Given the description of an element on the screen output the (x, y) to click on. 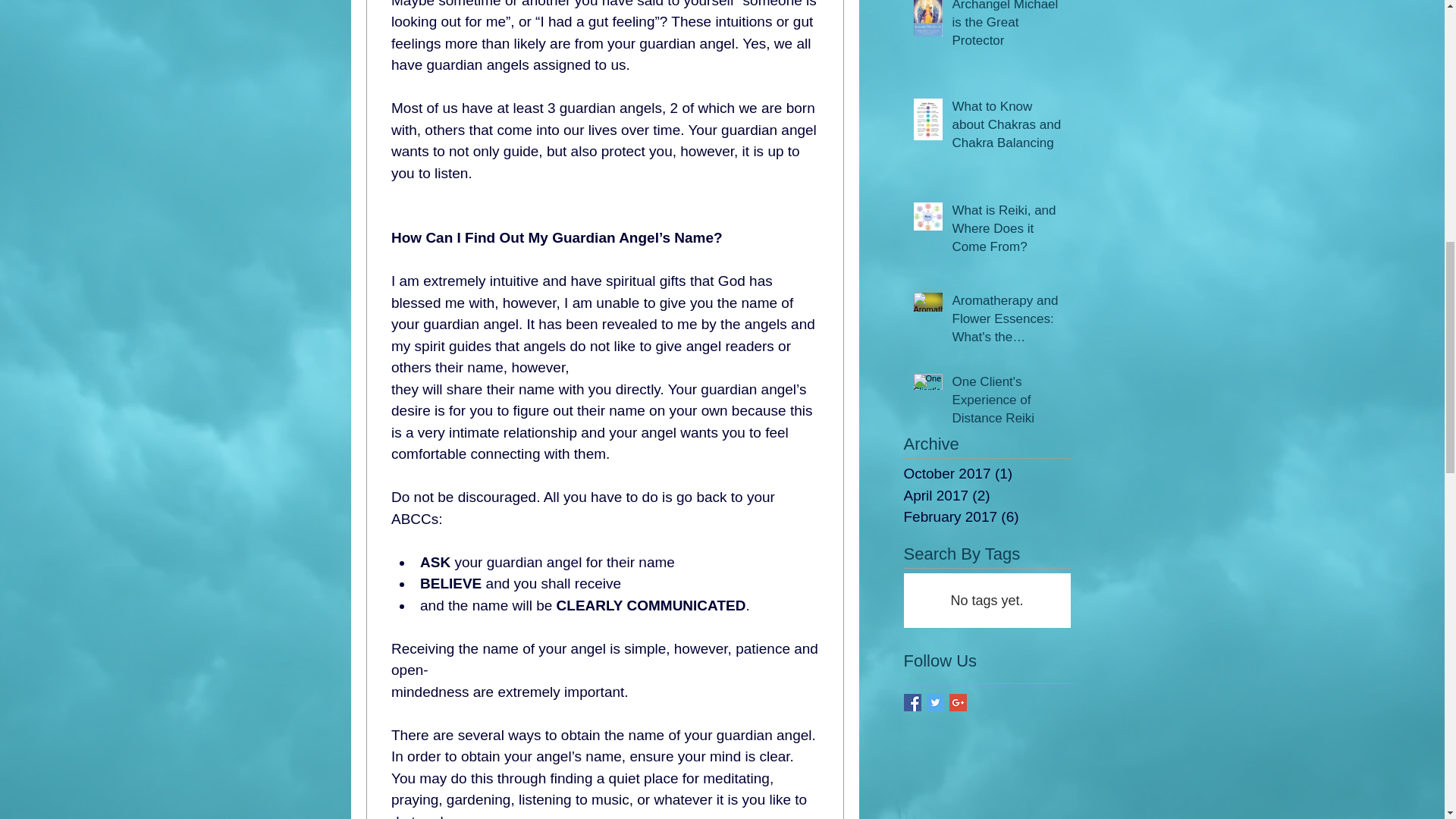
Aromatherapy and Flower Essences: What's the Difference? (1006, 321)
What to Know about Chakras and Chakra Balancing (1006, 127)
What is Reiki, and Where Does it Come From? (1006, 231)
One Client's Experience of Distance Reiki (1006, 403)
Archangel Michael is the Great Protector (1006, 27)
